Given the description of an element on the screen output the (x, y) to click on. 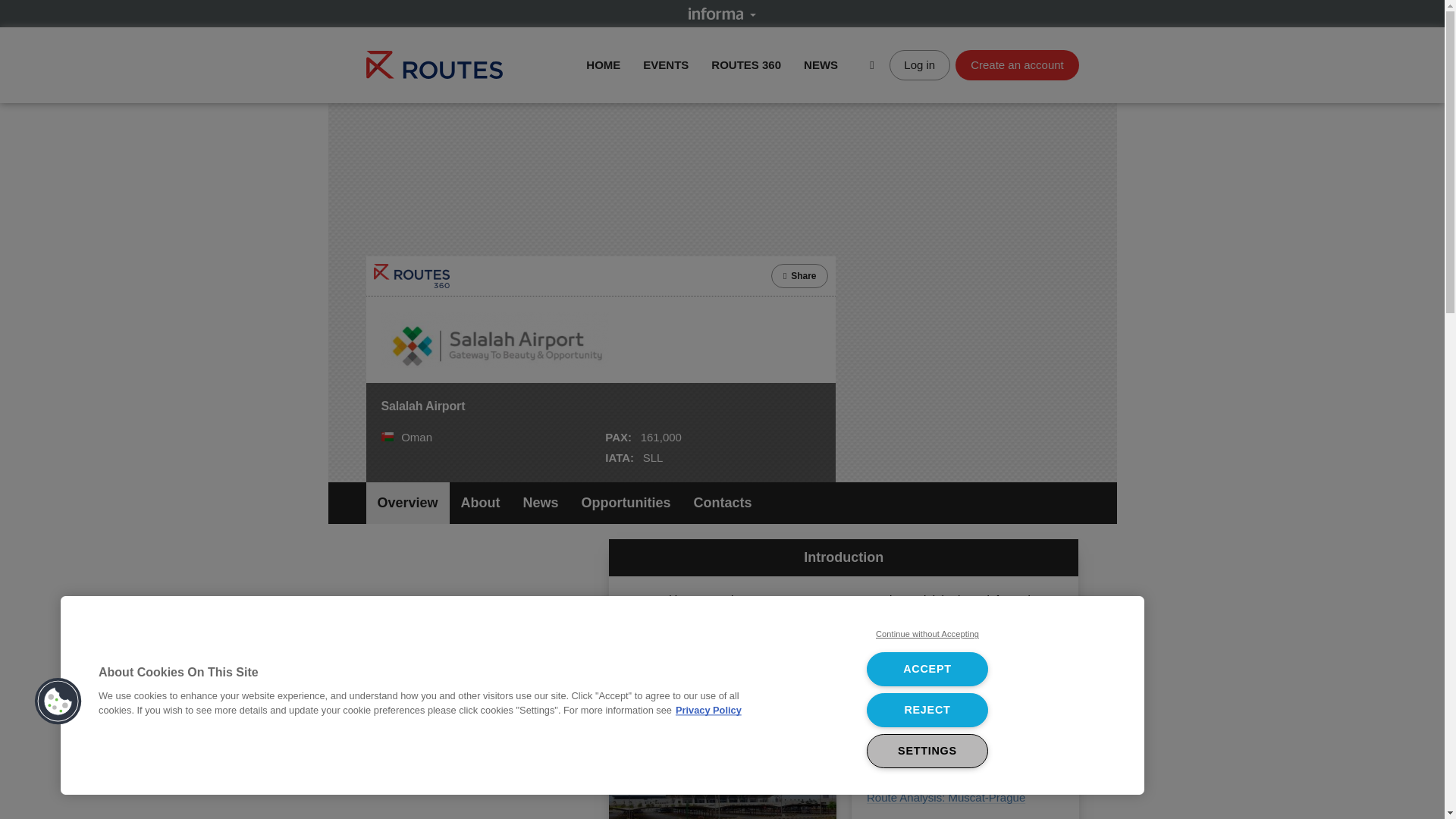
ROUTES 360 (745, 64)
Cookies Button (57, 701)
EVENTS (665, 64)
Create an account (1016, 64)
HOME (603, 64)
Log in (919, 64)
NEWS (820, 64)
Routes (433, 64)
